Given the description of an element on the screen output the (x, y) to click on. 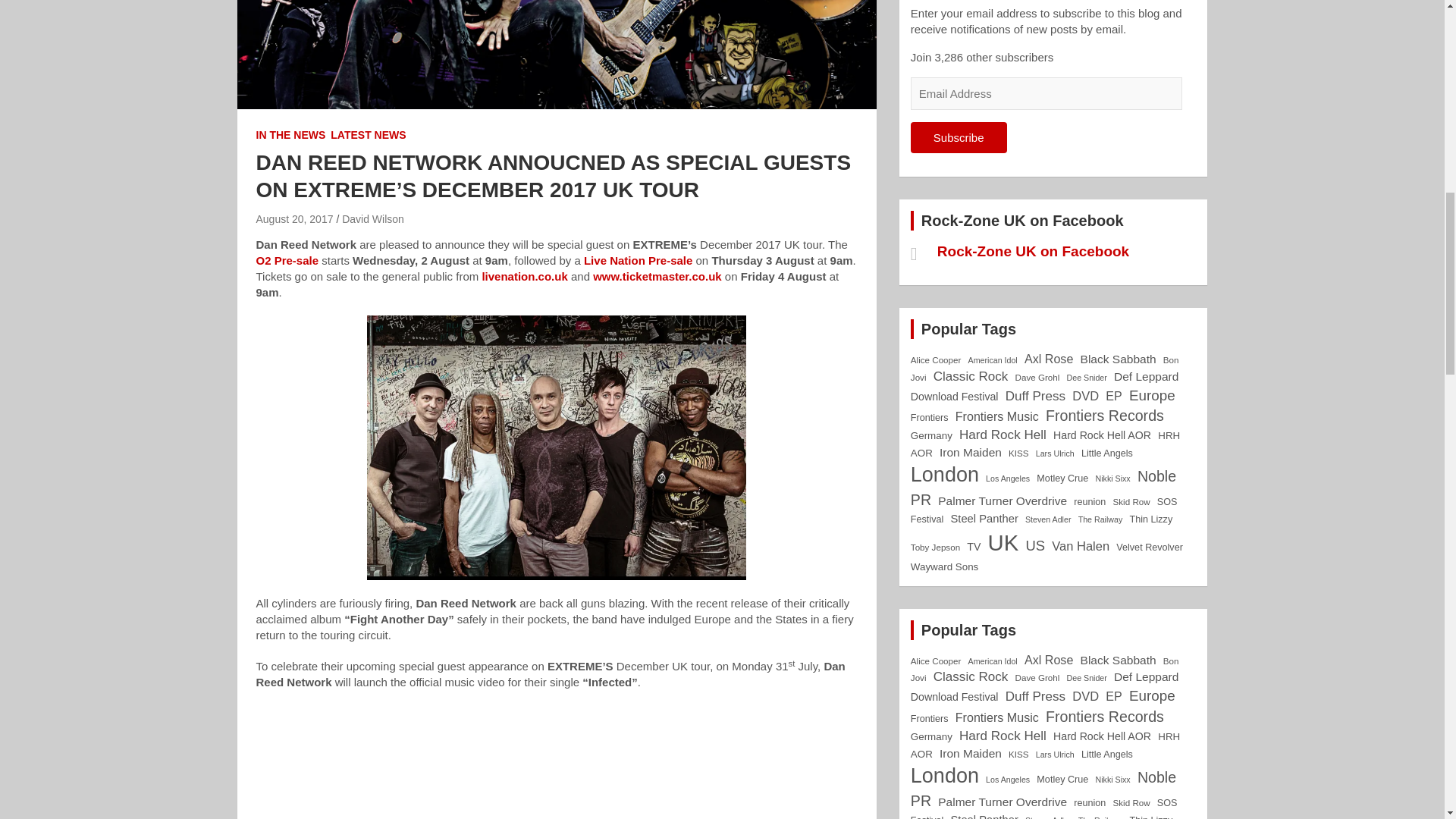
IN THE NEWS (291, 135)
David Wilson (373, 218)
LATEST NEWS (368, 135)
Live Nation Pre-sale (638, 259)
O2 Pre-sale (287, 259)
August 20, 2017 (294, 218)
www.ticketmaster.co.uk (657, 276)
livenation.co.uk (524, 276)
